Given the description of an element on the screen output the (x, y) to click on. 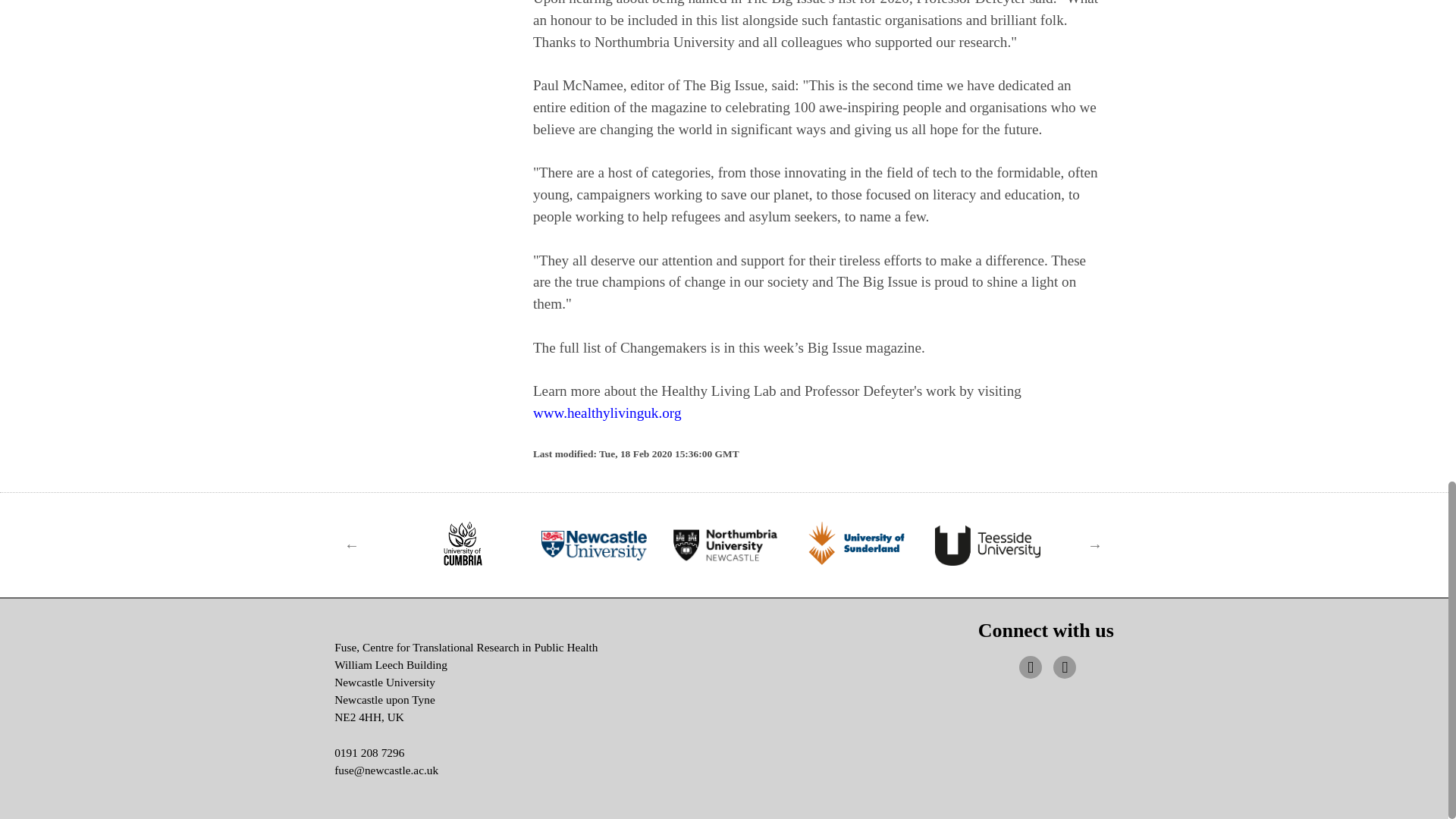
NEXT (1095, 544)
PREVIOUS (352, 544)
www.healthylivinguk.org (606, 412)
